Given the description of an element on the screen output the (x, y) to click on. 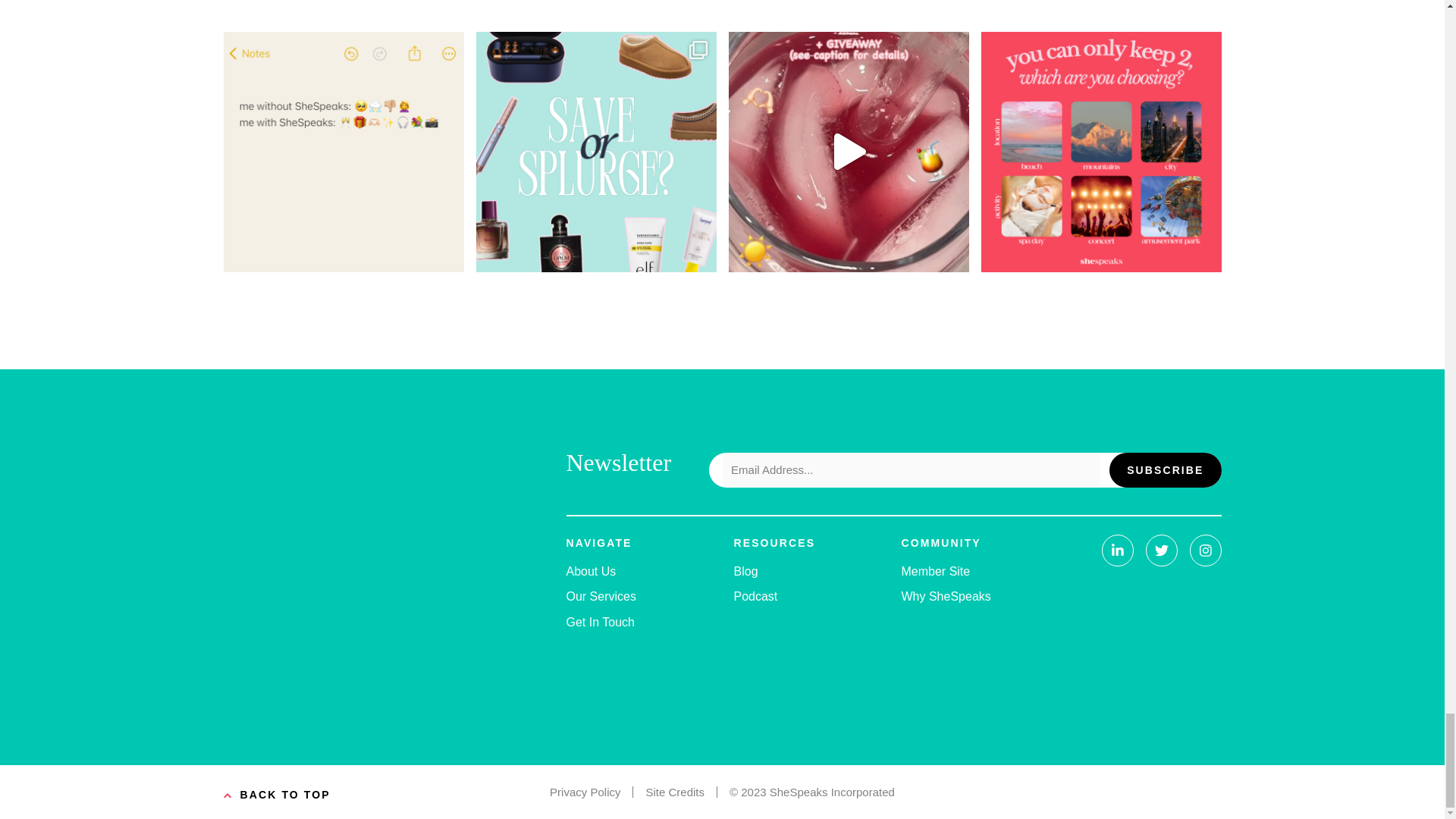
Instagram (1205, 550)
LinkedIn (1116, 550)
Twitter (1160, 550)
Subscribe (1165, 469)
